Given the description of an element on the screen output the (x, y) to click on. 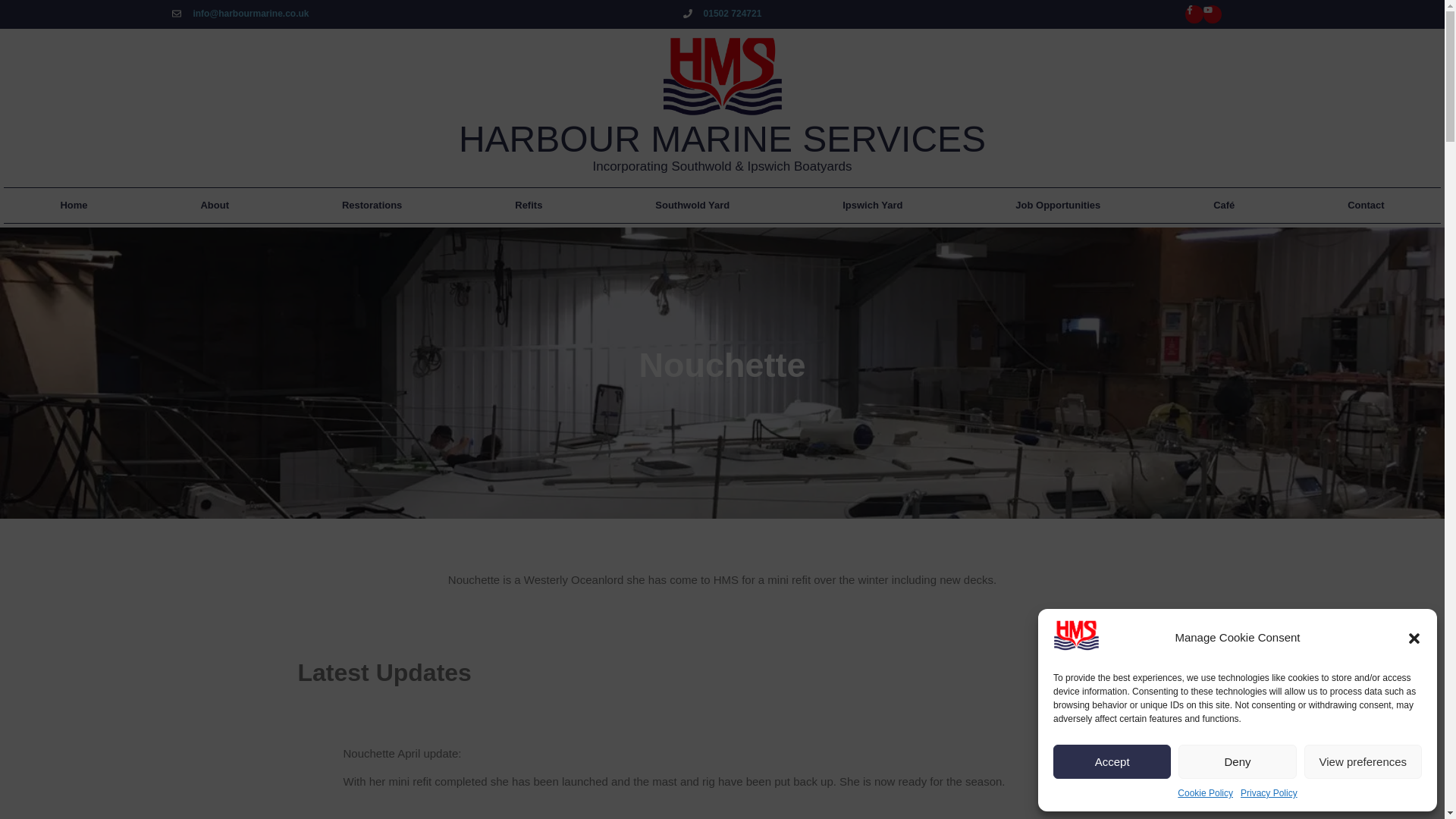
Deny (1236, 761)
Contact (1366, 205)
Job Opportunities (1058, 205)
Accept (1111, 761)
Cookie Policy (1205, 793)
About (214, 205)
Southwold Yard (692, 205)
Ipswich Yard (872, 205)
Restorations (371, 205)
01502 724721 (719, 13)
View preferences (1363, 761)
Refits (528, 205)
Home (74, 205)
Privacy Policy (1268, 793)
